Given the description of an element on the screen output the (x, y) to click on. 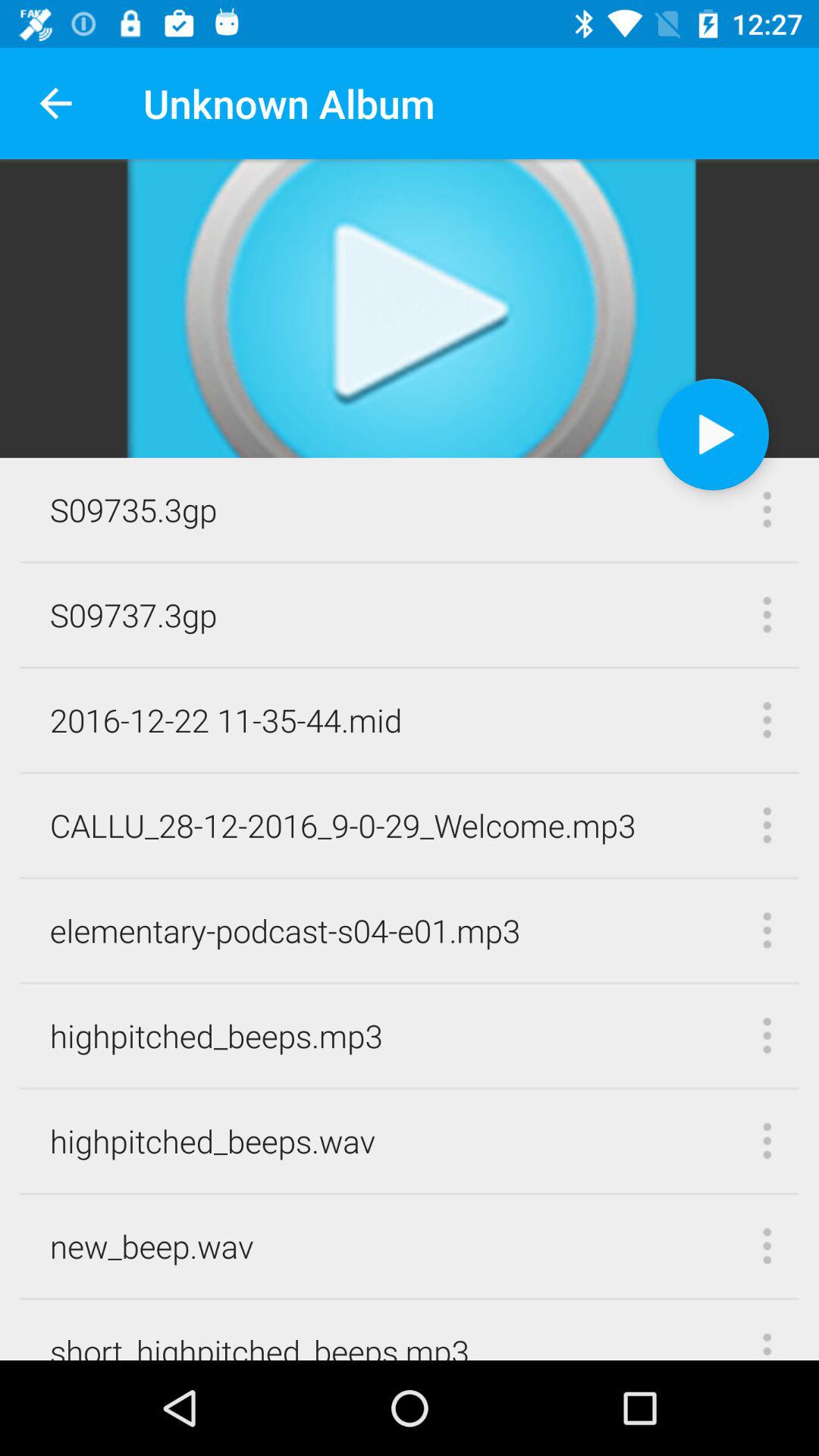
click item next to s09735.3gp (712, 434)
